Given the description of an element on the screen output the (x, y) to click on. 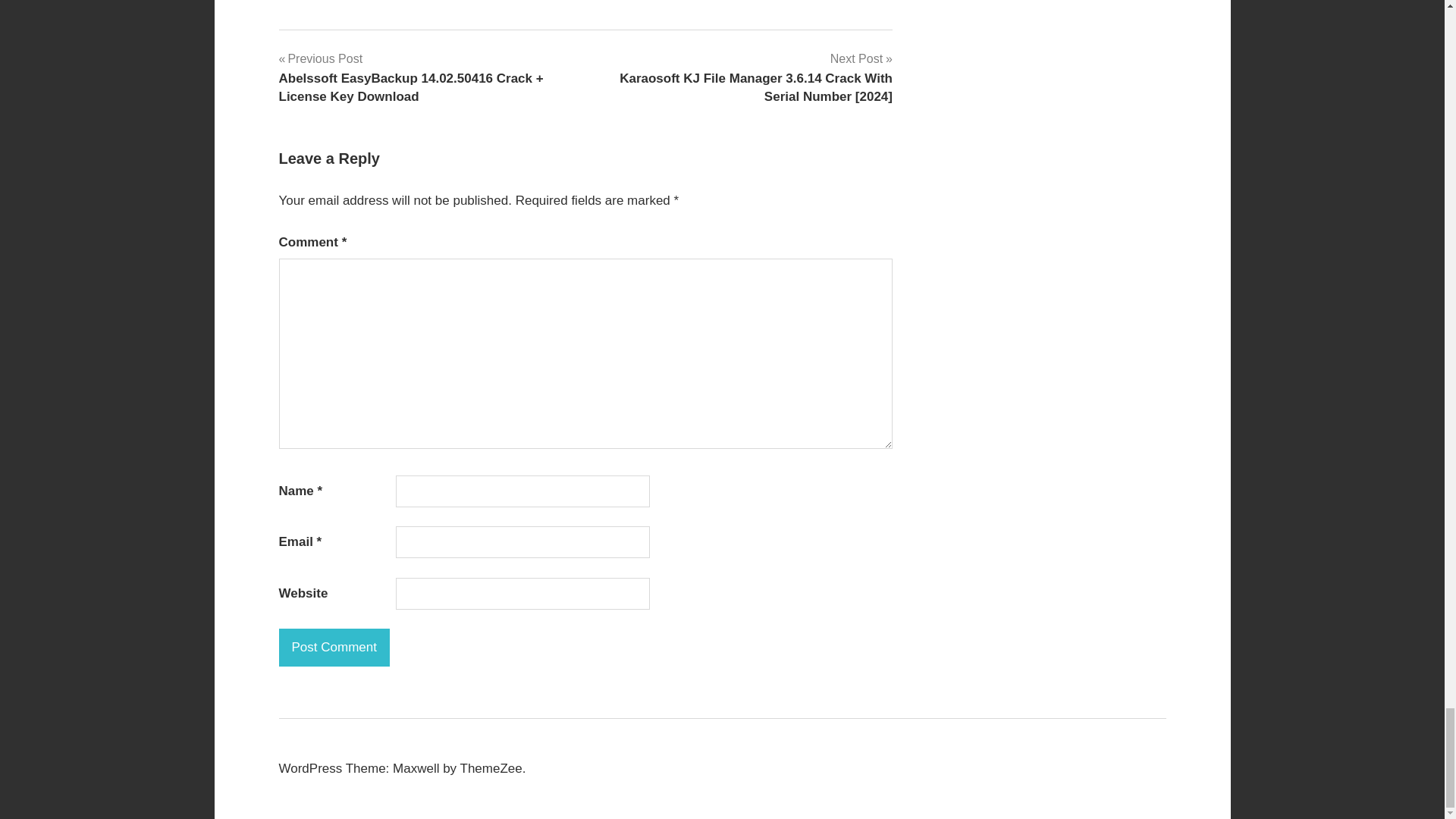
Post Comment (334, 647)
